Given the description of an element on the screen output the (x, y) to click on. 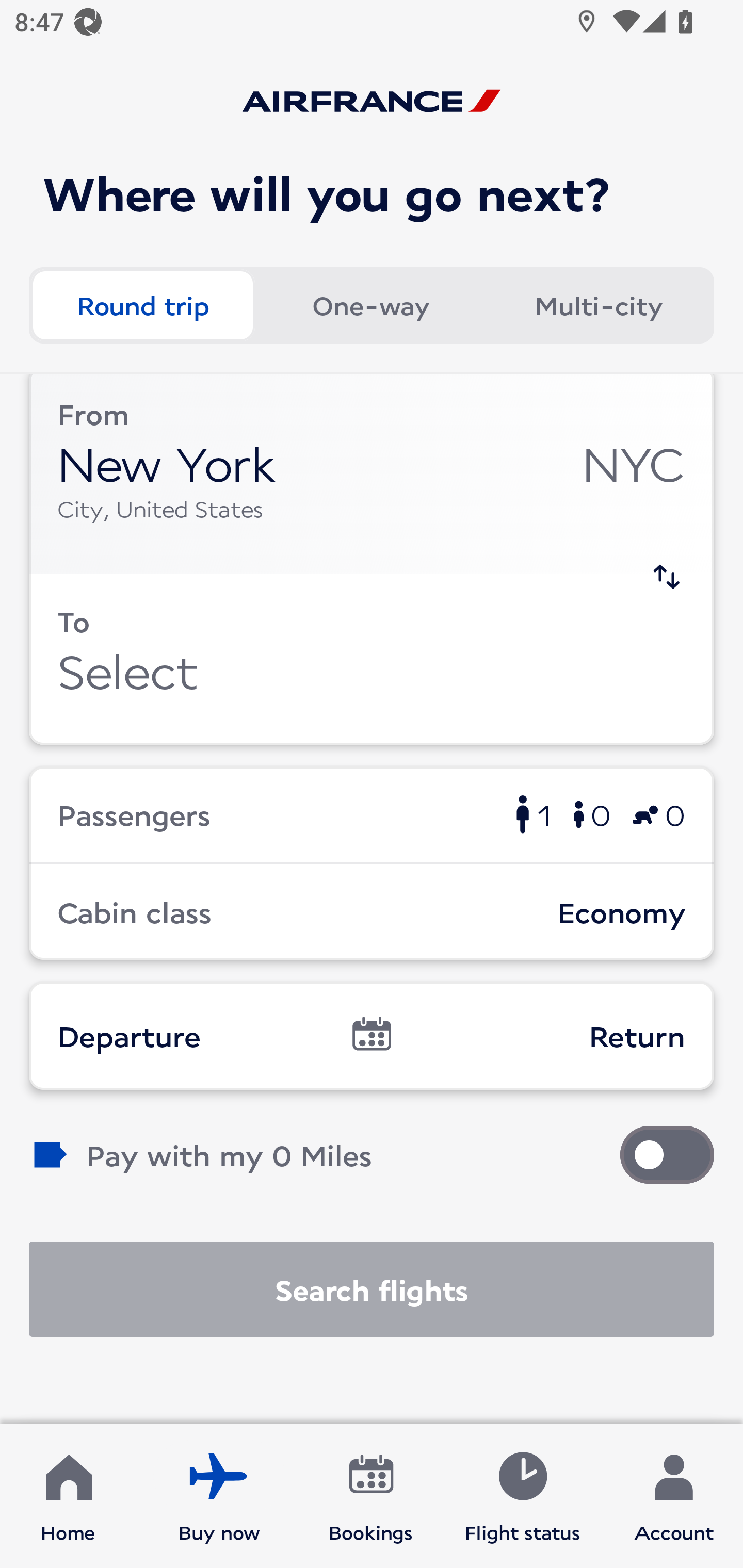
Round trip (142, 304)
One-way (370, 304)
Multi-city (598, 304)
From New York NYC City, United States (371, 473)
To Select (371, 658)
Passengers 1 0 0 (371, 814)
Cabin class Economy (371, 911)
Departure Return (371, 1035)
Search flights (371, 1289)
Home (68, 1495)
Bookings (370, 1495)
Flight status (522, 1495)
Account (674, 1495)
